Given the description of an element on the screen output the (x, y) to click on. 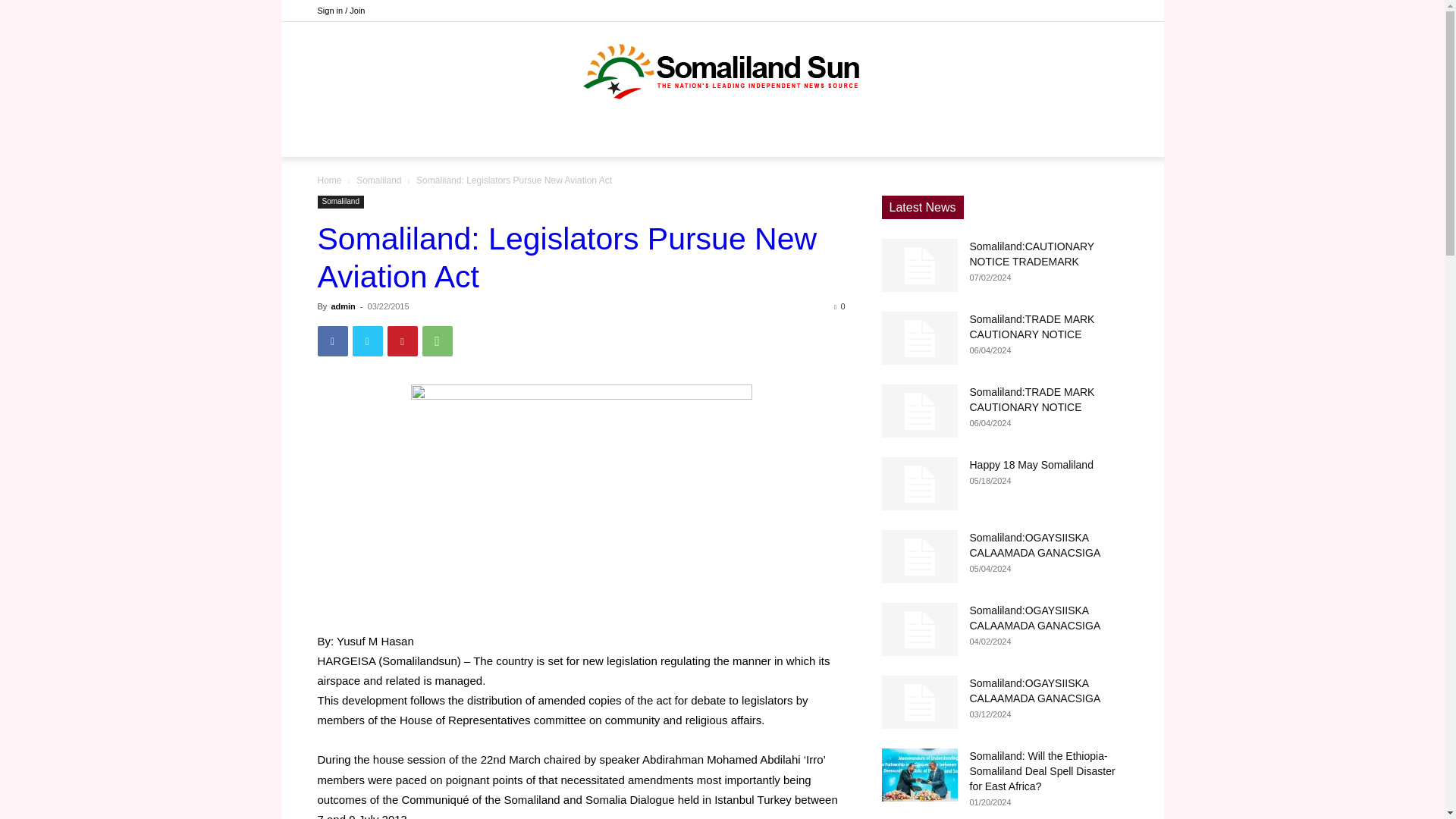
NEWS (617, 138)
DONOR NEWS (531, 138)
Somaliland Sun (722, 71)
HOME (450, 138)
